Given the description of an element on the screen output the (x, y) to click on. 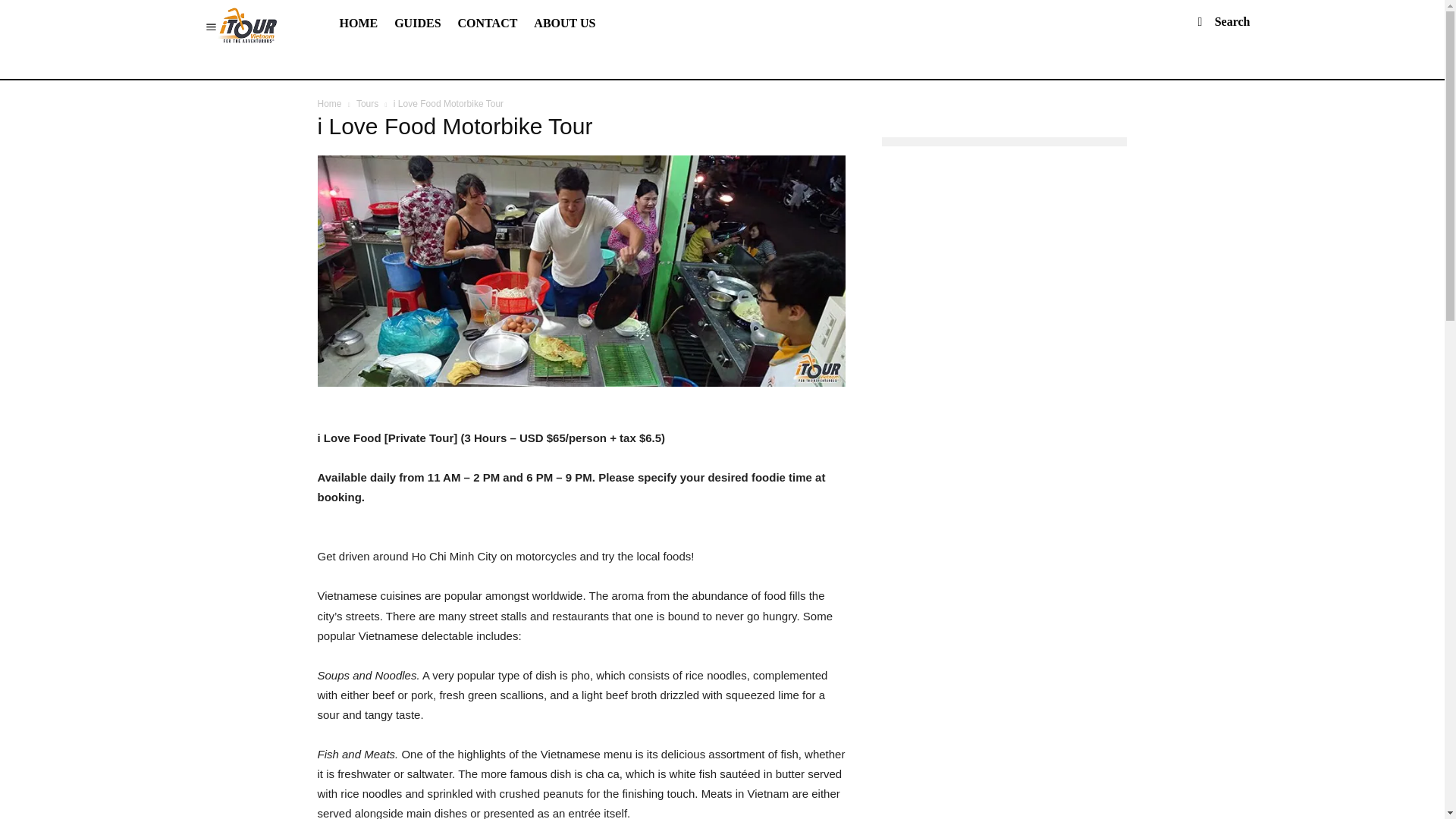
CONTACT (487, 22)
ABOUT US (564, 22)
HOME (357, 22)
Tours (367, 103)
Search (1217, 21)
Tours (367, 103)
GUIDES (416, 22)
Home (328, 103)
